Given the description of an element on the screen output the (x, y) to click on. 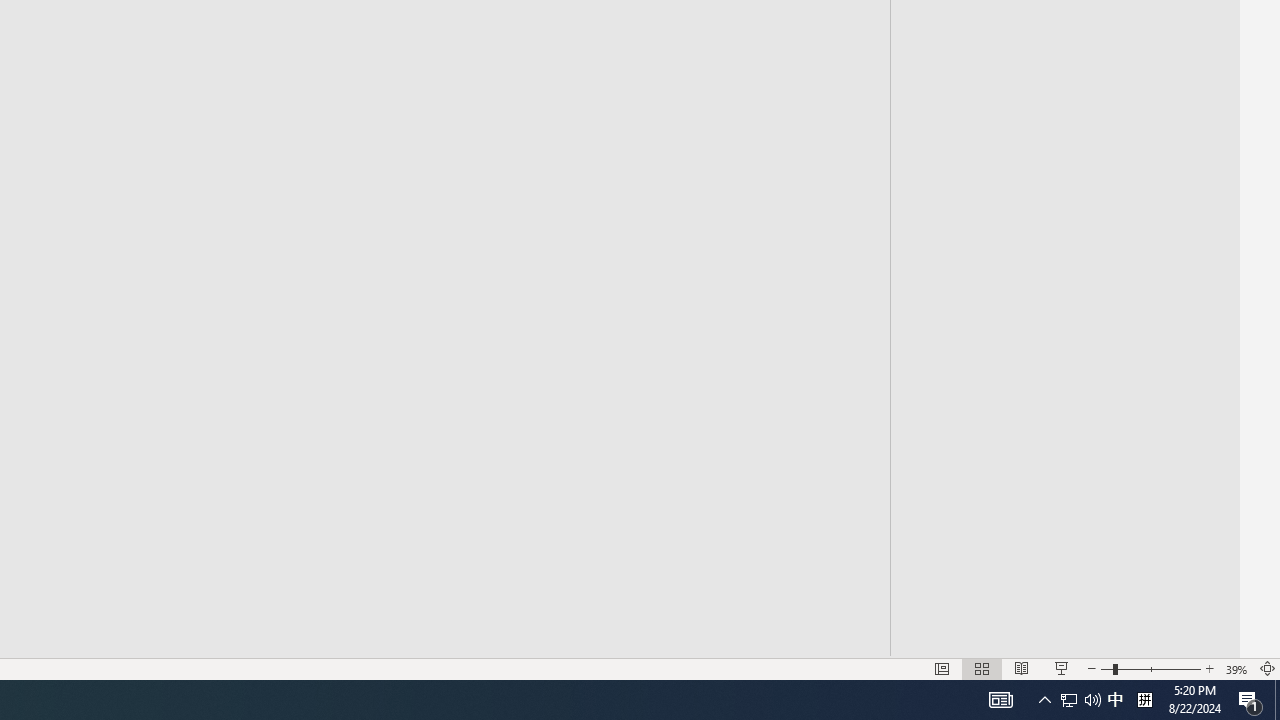
Zoom 39% (1236, 668)
